Given the description of an element on the screen output the (x, y) to click on. 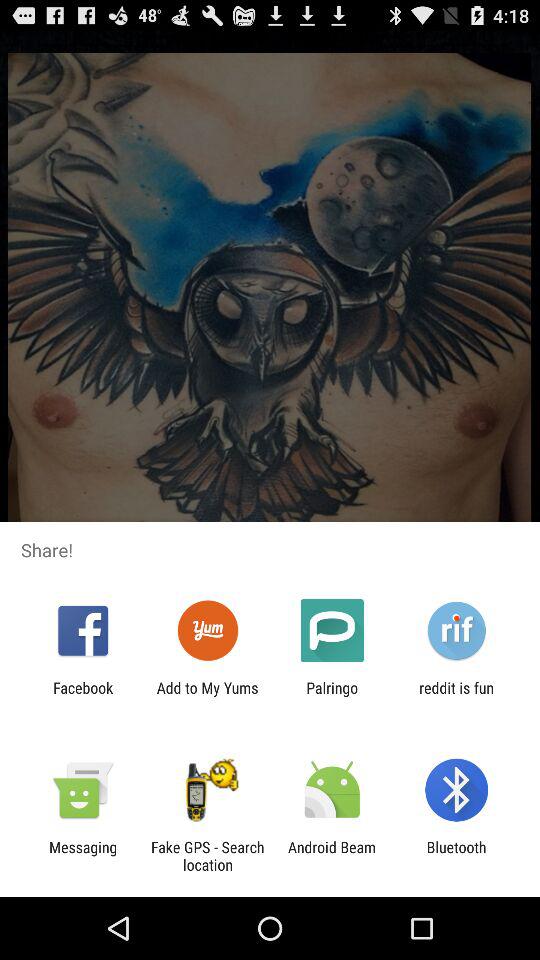
select the item next to bluetooth (332, 856)
